Given the description of an element on the screen output the (x, y) to click on. 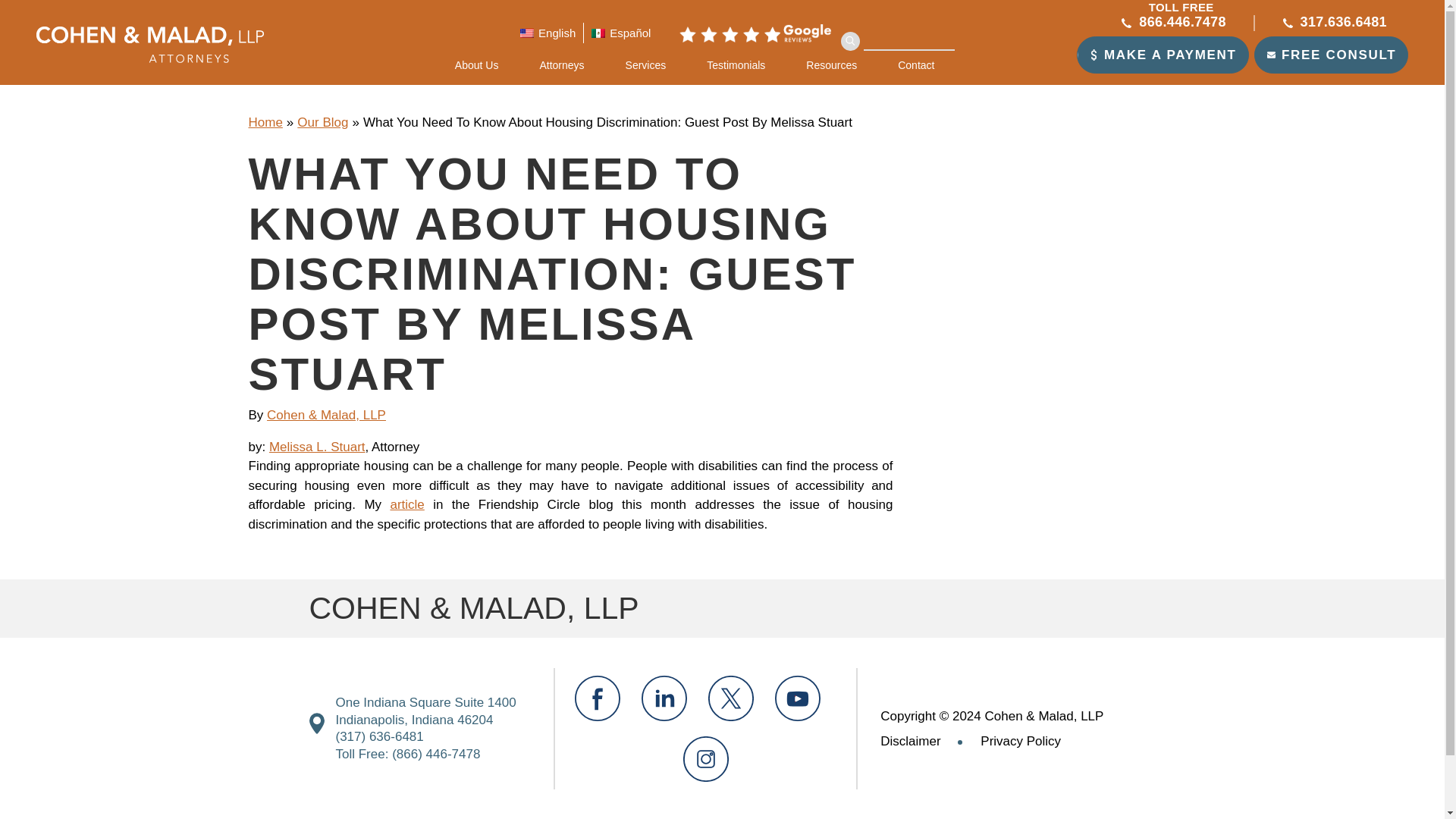
About Us (486, 65)
FREE CONSULT (1330, 54)
English (547, 33)
Testimonials (735, 65)
Melissa L. Stuart (317, 446)
Search (850, 40)
Contact (916, 65)
Search (850, 40)
Attorneys (561, 65)
317.636.6481 (1334, 21)
